Given the description of an element on the screen output the (x, y) to click on. 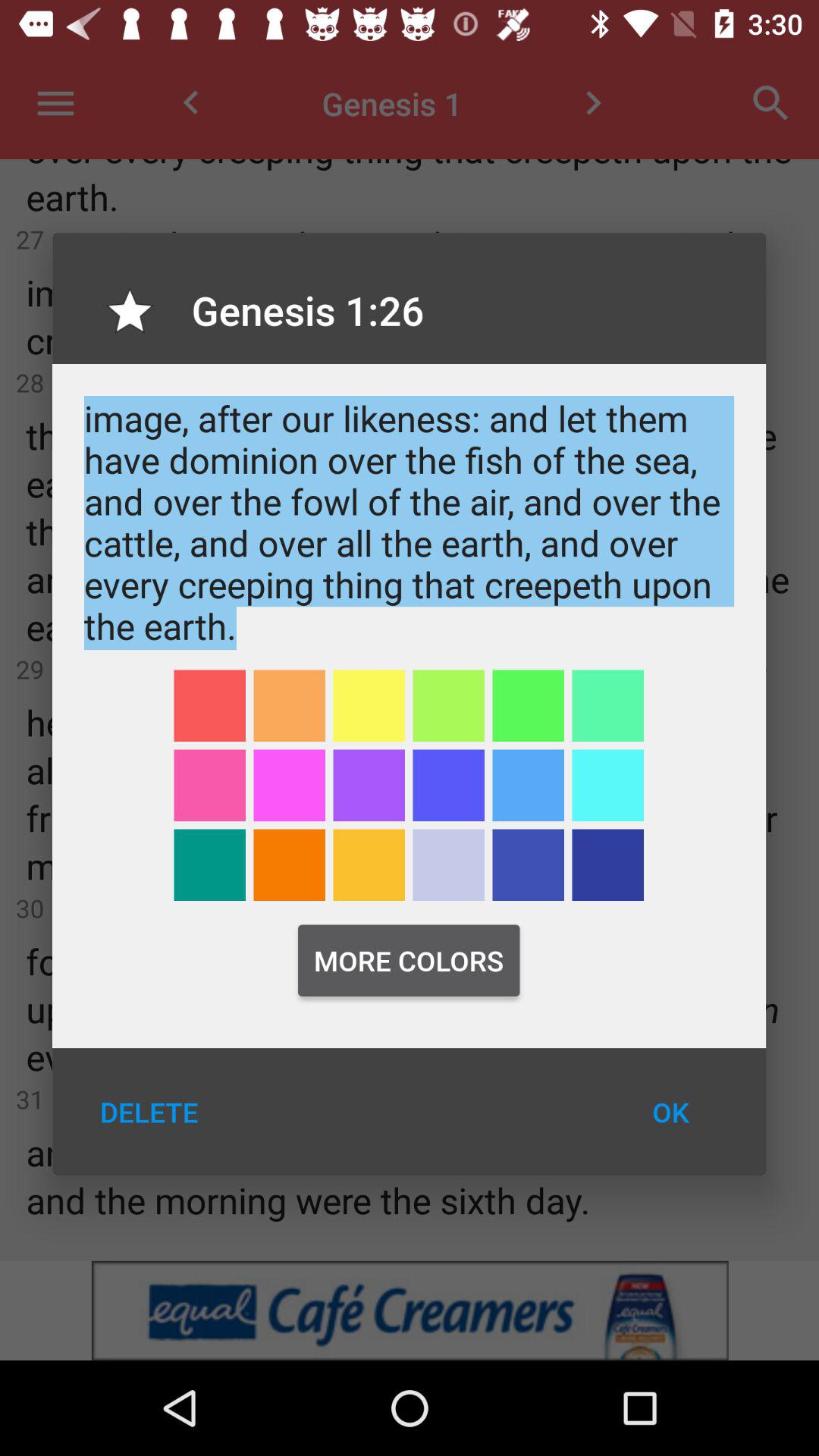
turn off icon below the and god said icon (528, 705)
